Given the description of an element on the screen output the (x, y) to click on. 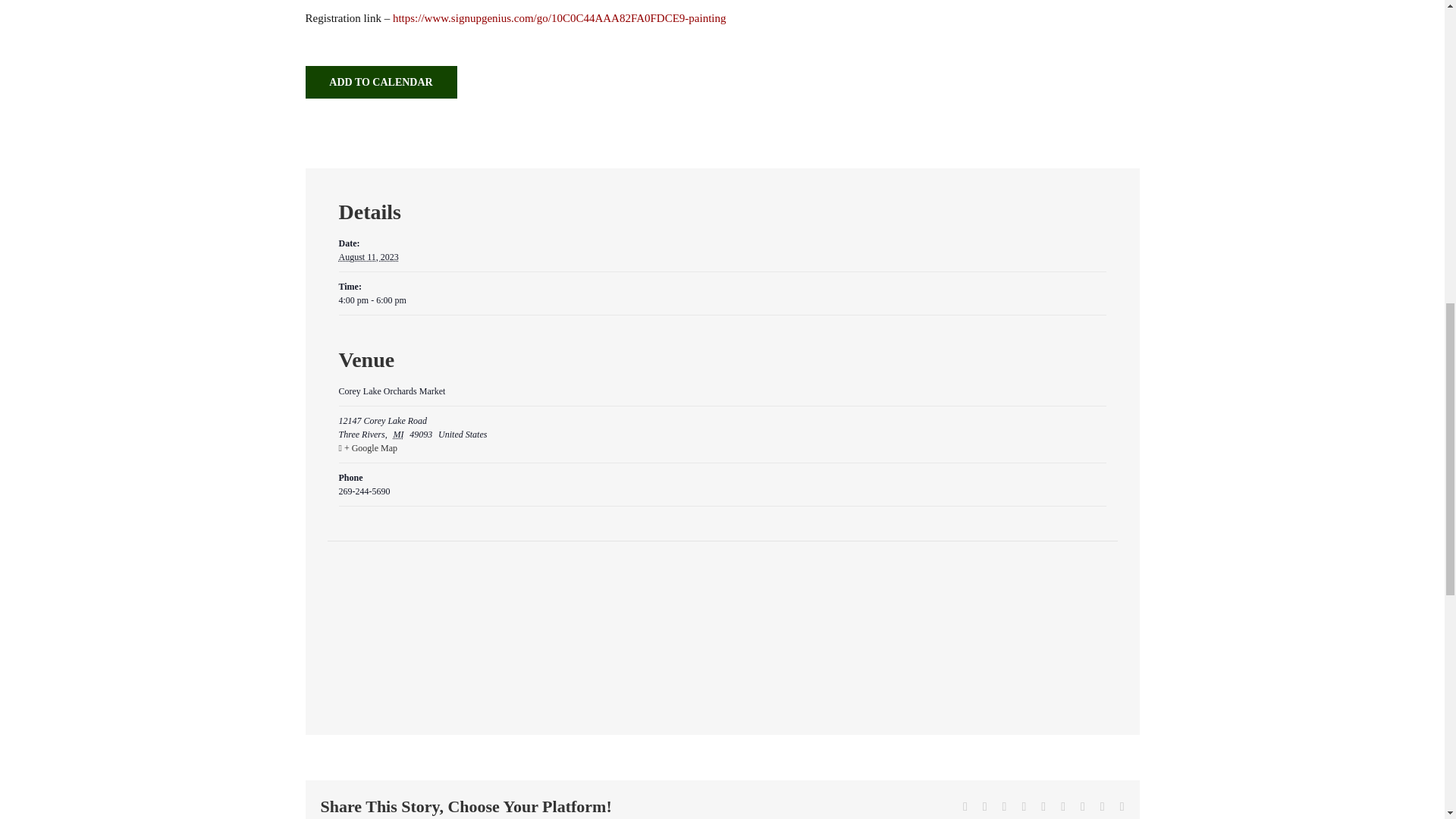
2023-08-11 (721, 300)
Click to view a Google Map (720, 448)
2023-08-11 (367, 256)
Michigan (400, 434)
